Given the description of an element on the screen output the (x, y) to click on. 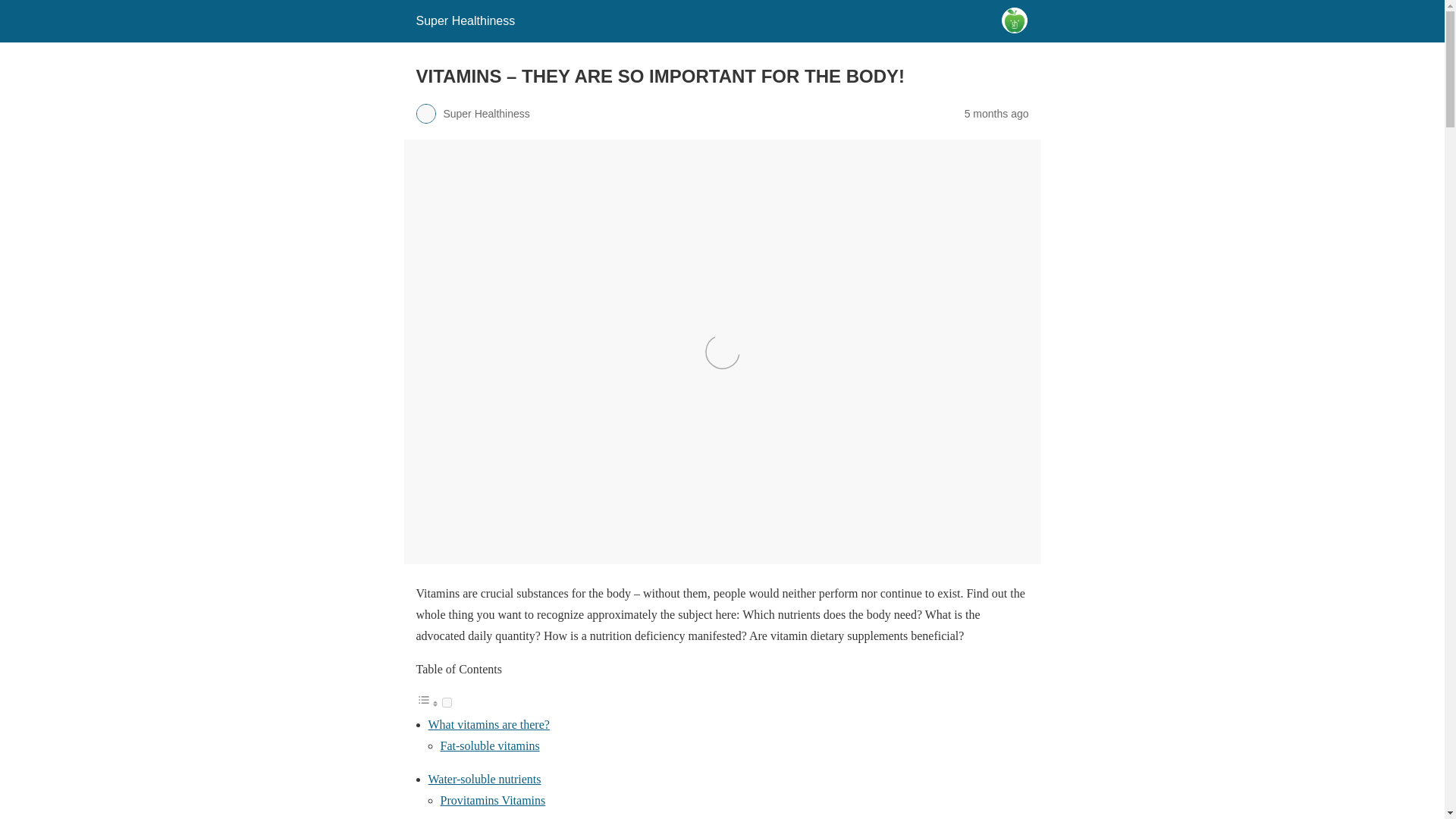
Provitamins Vitamins (491, 799)
Fat-soluble vitamins (488, 745)
Water-soluble nutrients (484, 779)
Water-soluble nutrients (484, 779)
Provitamins Vitamins (491, 799)
What vitamins are there? (488, 724)
Fat-soluble vitamins (488, 745)
Super Healthiness (464, 20)
on (446, 702)
What vitamins are there? (488, 724)
